Given the description of an element on the screen output the (x, y) to click on. 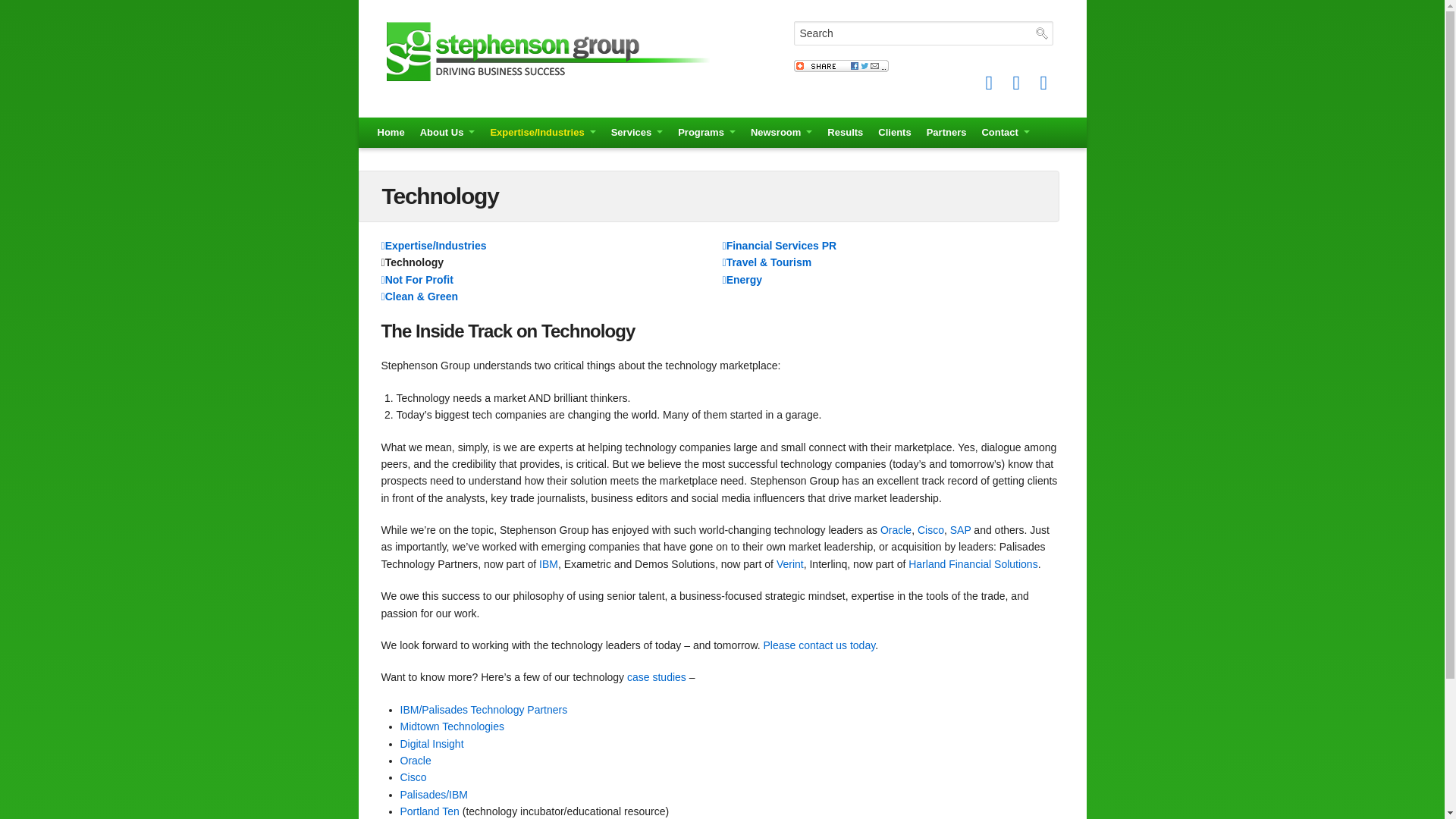
Newsroom (780, 132)
Clients (894, 132)
Contact Us Today! (819, 645)
Palisades PR Case Study (483, 709)
Palisades PR Case Study (433, 794)
Results (844, 132)
Financial Services PR (778, 245)
Home (390, 132)
Partners (946, 132)
Testimonials (656, 676)
Technology (412, 262)
Contact (1005, 132)
Oracle PR Case Study (415, 760)
Stephenson Group (552, 48)
Services (637, 132)
